Given the description of an element on the screen output the (x, y) to click on. 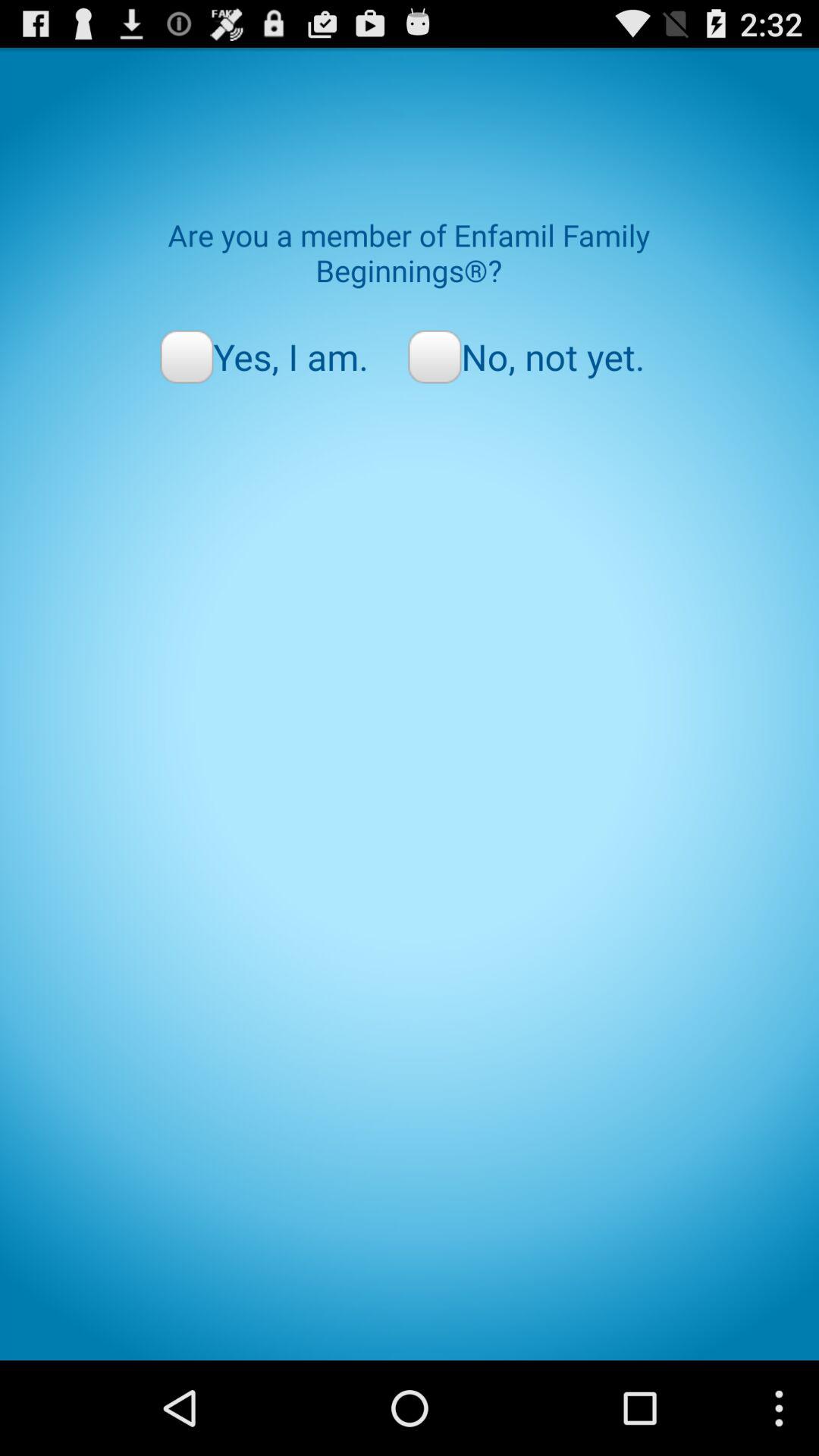
turn off the app below are you a (264, 356)
